Given the description of an element on the screen output the (x, y) to click on. 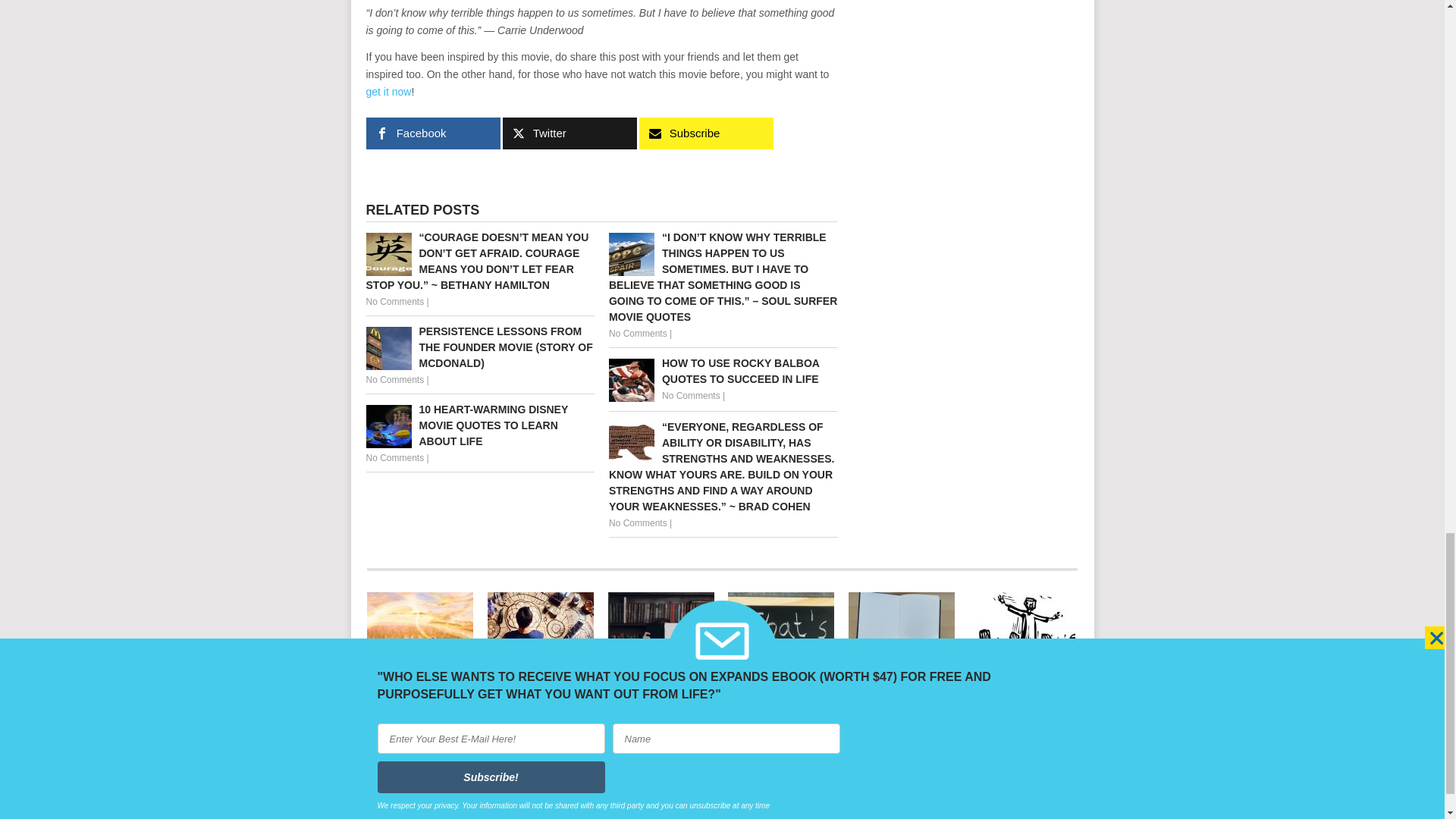
10 HEART-WARMING DISNEY MOVIE QUOTES TO LEARN ABOUT LIFE (479, 425)
5 POWERFUL SITUATION WORDS TO HELP YOU STAY MOTIVATED (781, 641)
10 Heart-Warming Disney Movie Quotes To Learn About Life (479, 425)
No Comments (394, 379)
Twitter (569, 133)
READ TO DISCOVER YOUR SELF-WORTH AND LEAD BY EXAMPLE (661, 641)
WHY DOES MANIFESTATION NOT WORK FOR ME? (540, 641)
get it now (387, 91)
How To Use Rocky Balboa Quotes To Succeed In Life (723, 371)
Facebook (432, 133)
No Comments (691, 395)
Subscribe (706, 133)
No Comments (394, 301)
No Comments (394, 457)
